Given the description of an element on the screen output the (x, y) to click on. 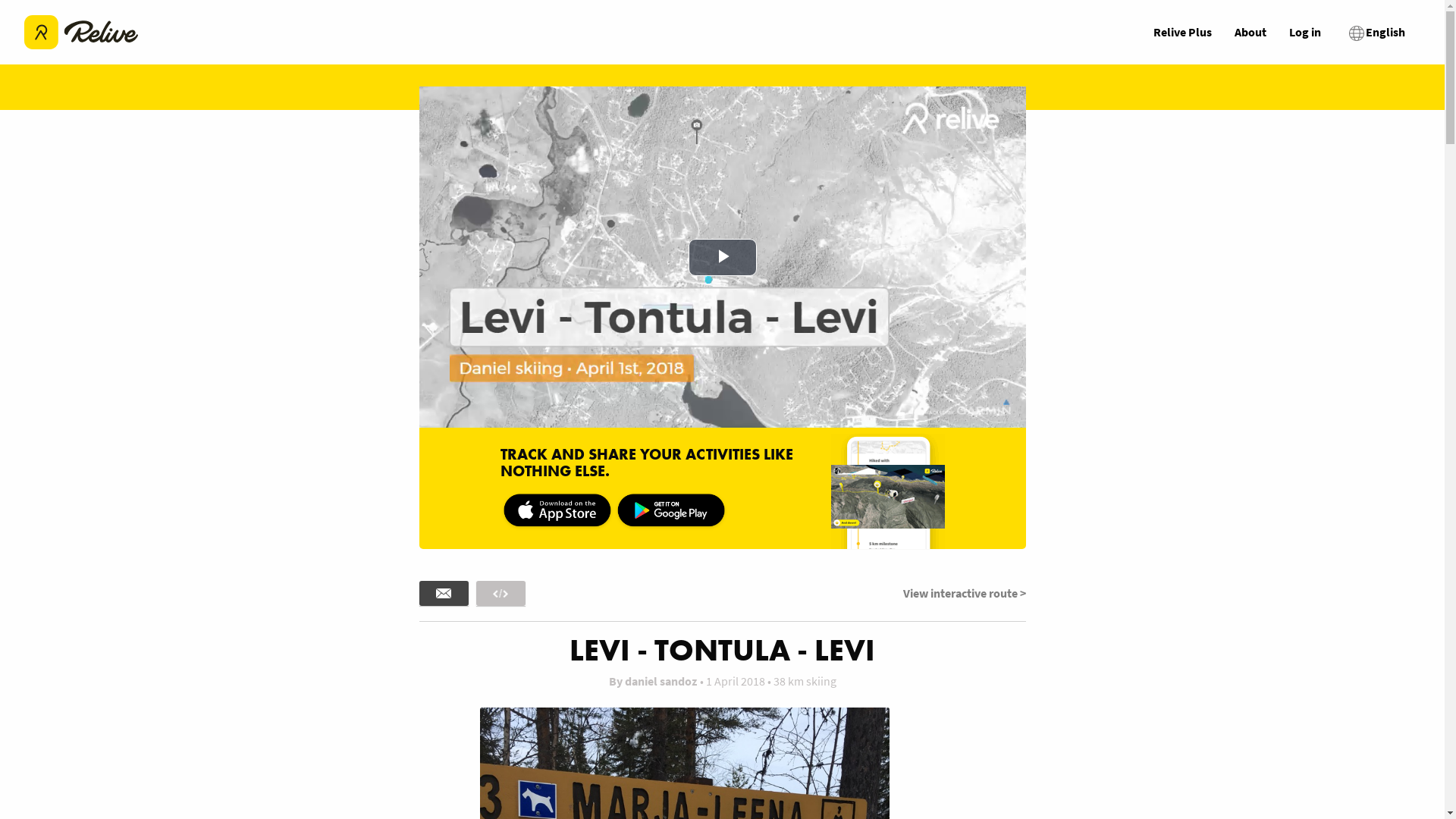
English Element type: text (1376, 32)
Relive Plus Element type: text (1182, 31)
Play Video Element type: text (722, 257)
About Element type: text (1250, 31)
View interactive route > Element type: text (963, 592)
Log in Element type: text (1305, 31)
